Given the description of an element on the screen output the (x, y) to click on. 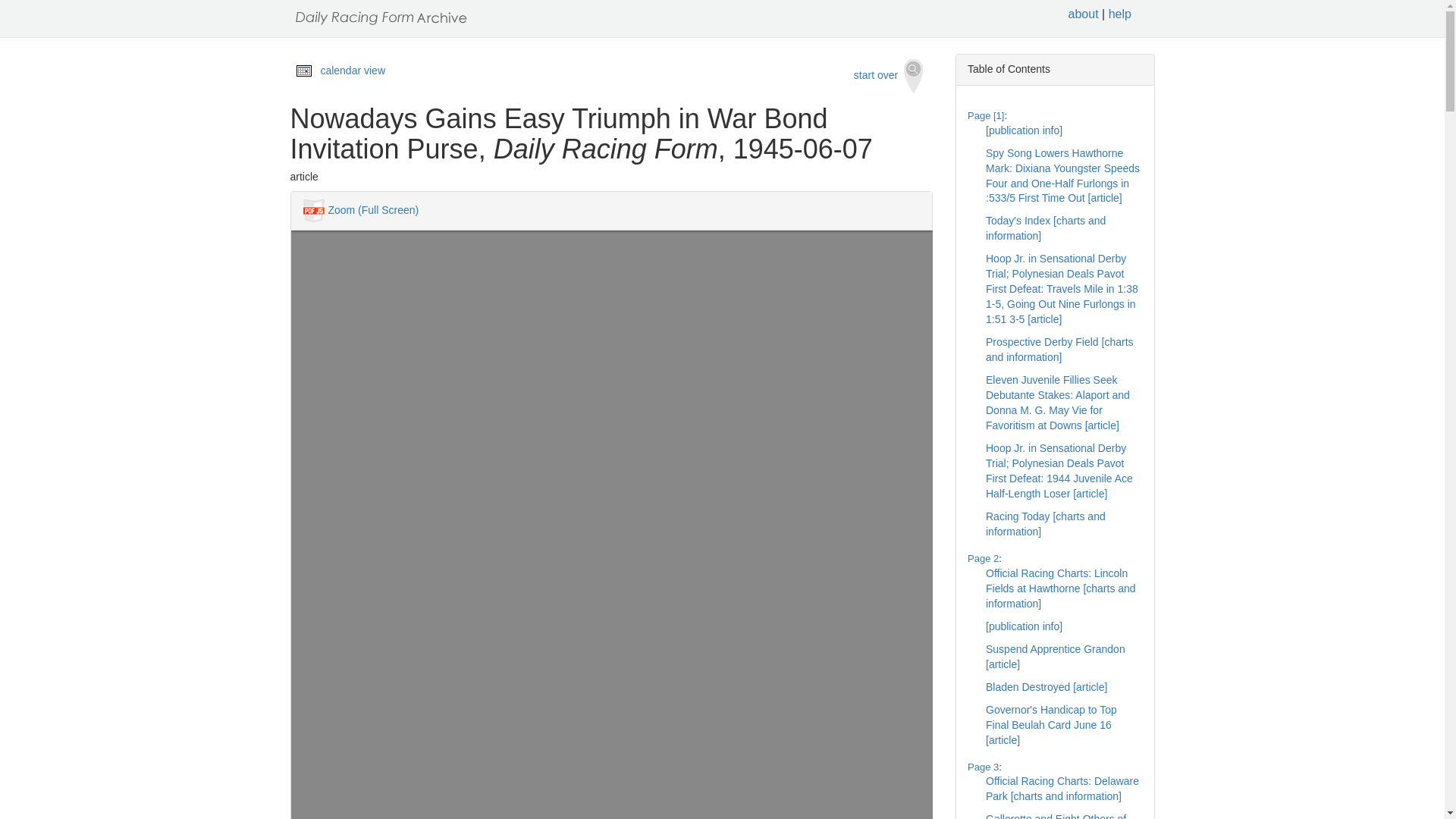
Page 3 (983, 767)
calendar view (352, 70)
Page 2 (983, 558)
start over   (888, 76)
